Given the description of an element on the screen output the (x, y) to click on. 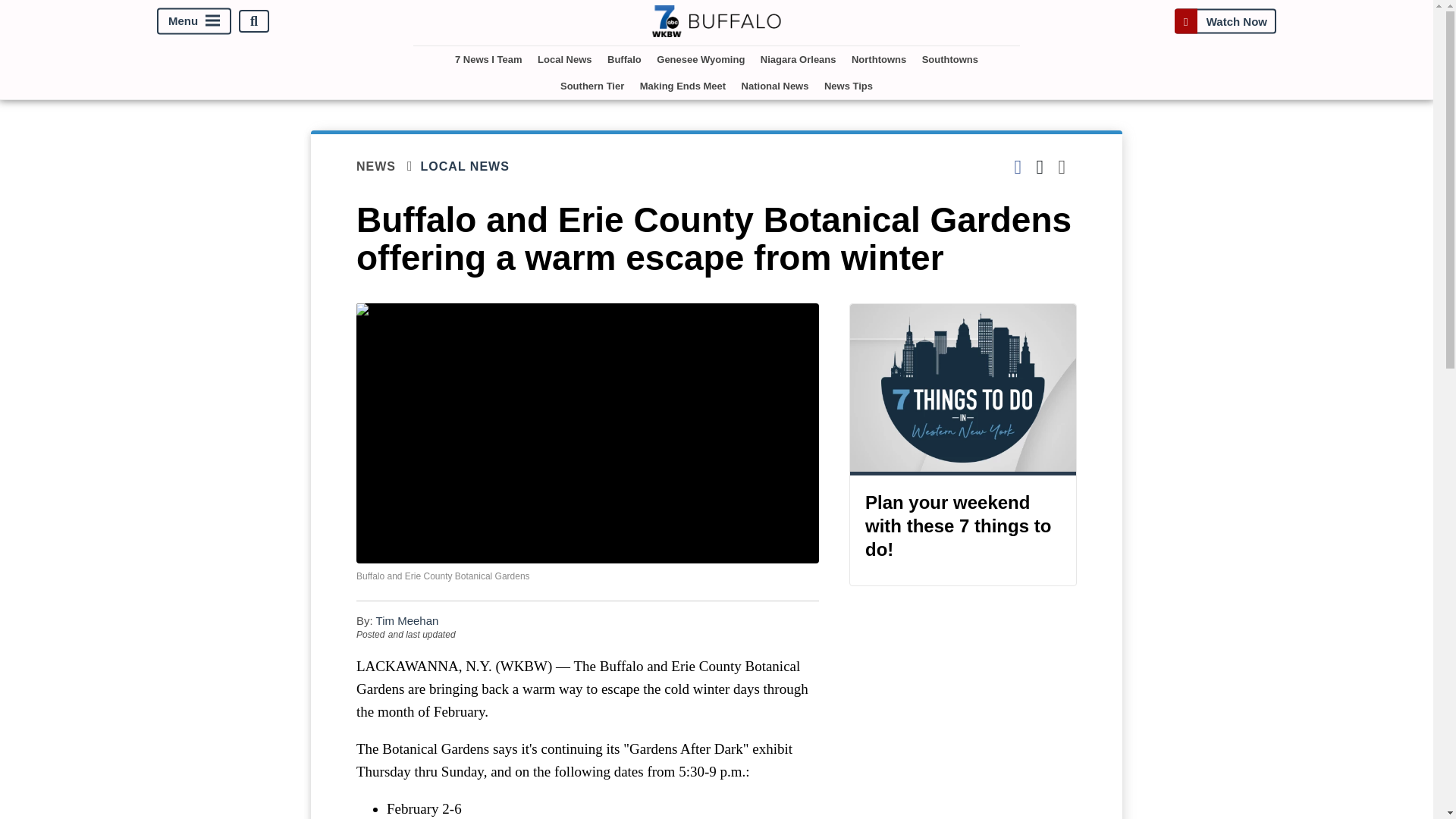
Watch Now (1224, 21)
Menu (194, 21)
